Given the description of an element on the screen output the (x, y) to click on. 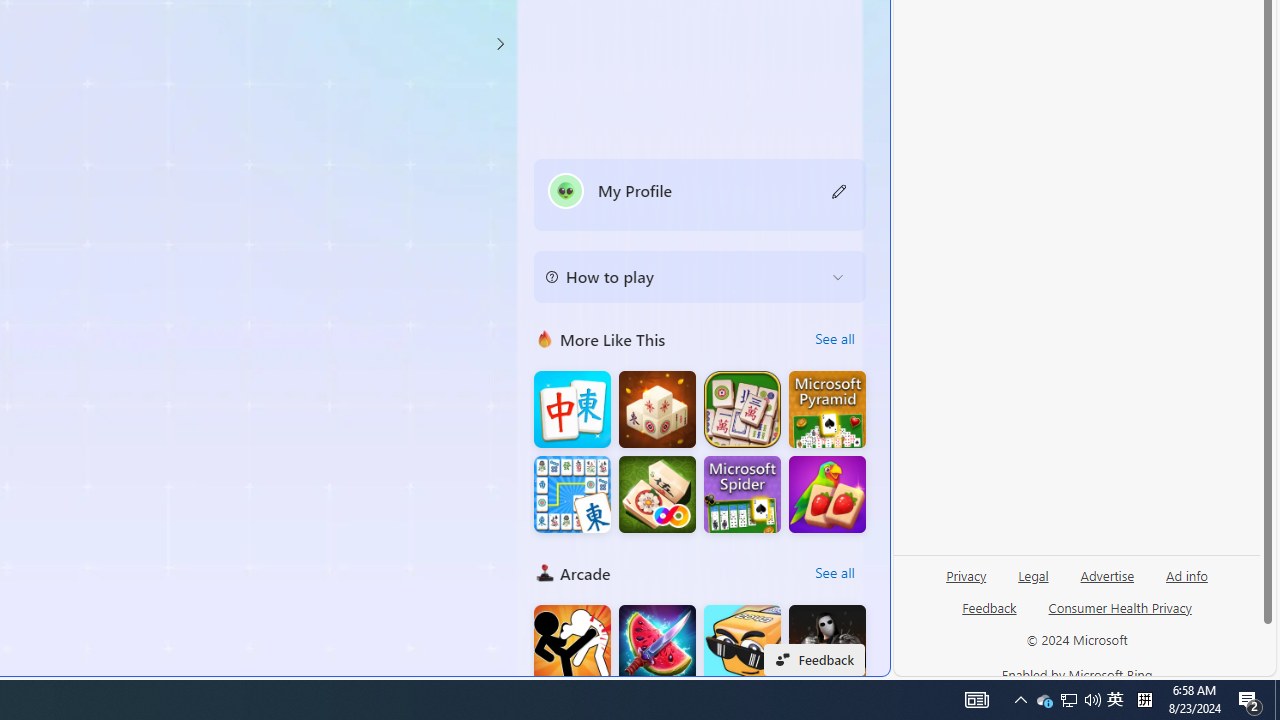
How to play (683, 276)
Class: control (499, 43)
Arcade (544, 572)
Mahjong FRVR (657, 494)
Microsoft Spider Solitaire (742, 494)
Stickman Fighter : Mega Brawl (571, 643)
Mahjong Connect Deluxe (571, 494)
Solitaire Mahjong Juicy (827, 494)
See all (834, 572)
Fruit Chopper (657, 643)
